Given the description of an element on the screen output the (x, y) to click on. 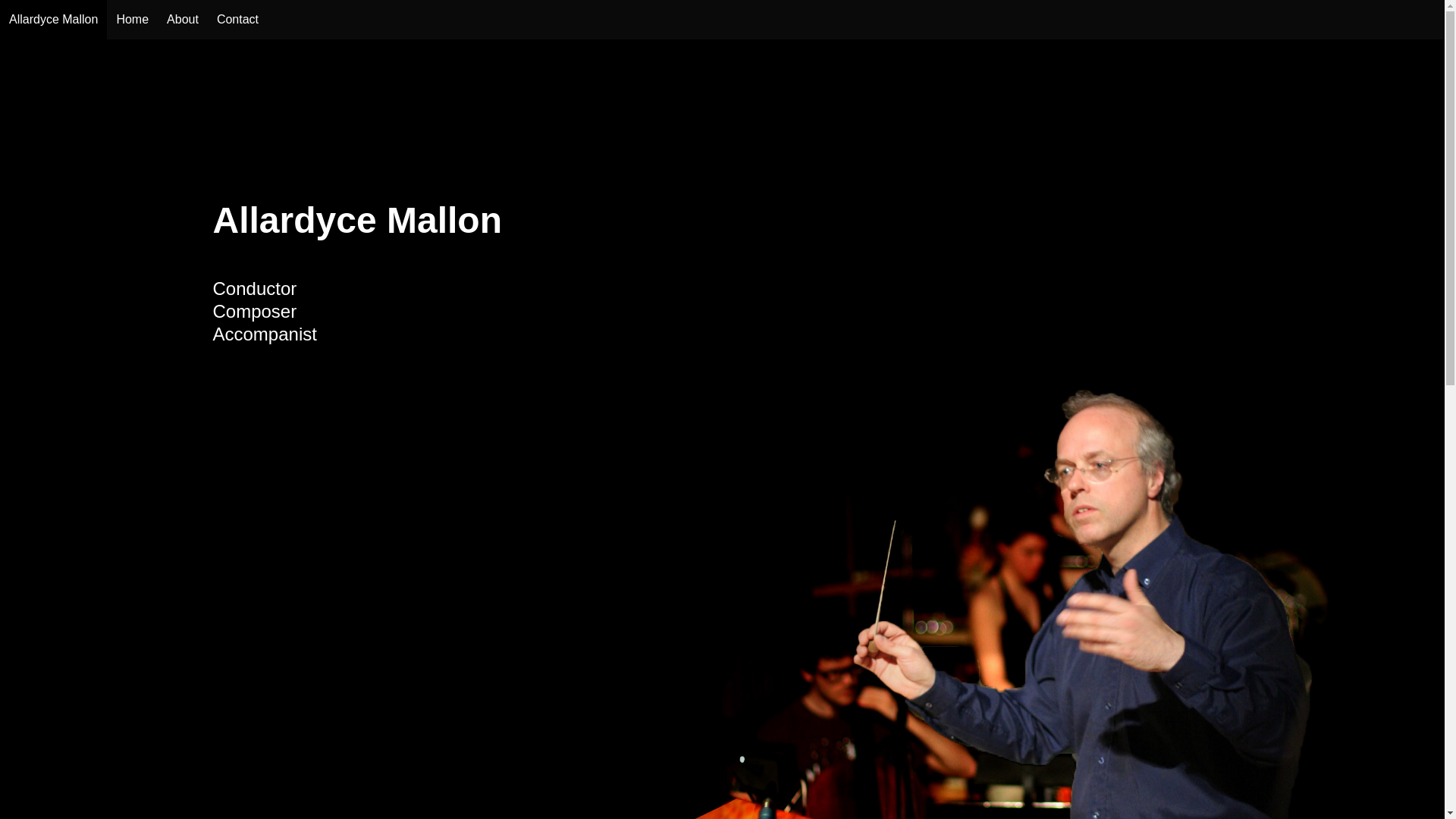
Allardyce Mallon Element type: text (53, 19)
About Element type: text (182, 19)
Home Element type: text (131, 19)
Contact Element type: text (237, 19)
